Given the description of an element on the screen output the (x, y) to click on. 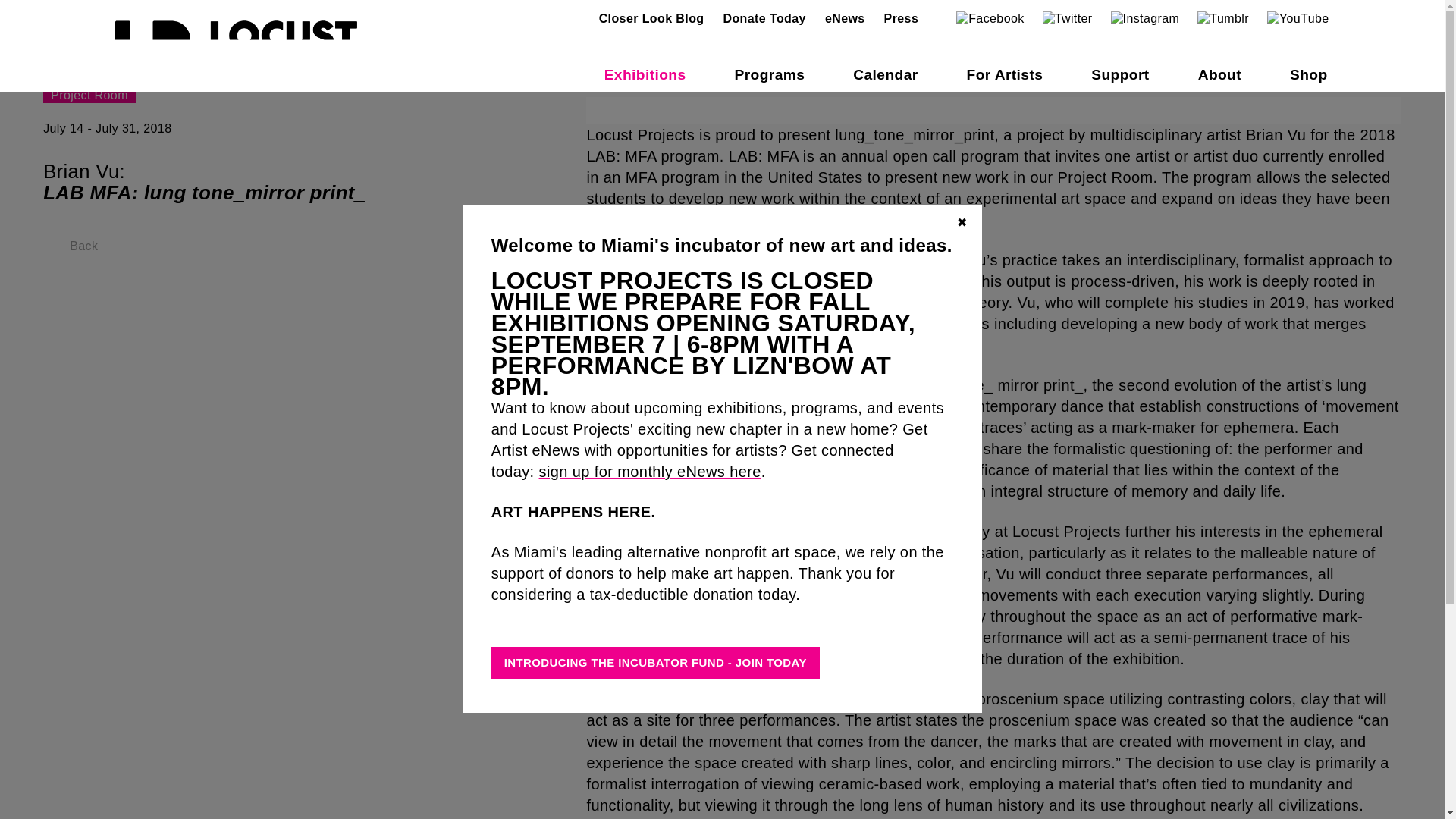
Exhibitions (644, 74)
Calendar (884, 74)
About (1219, 74)
Programs (769, 74)
For Artists (1005, 74)
Support (1119, 74)
